Given the description of an element on the screen output the (x, y) to click on. 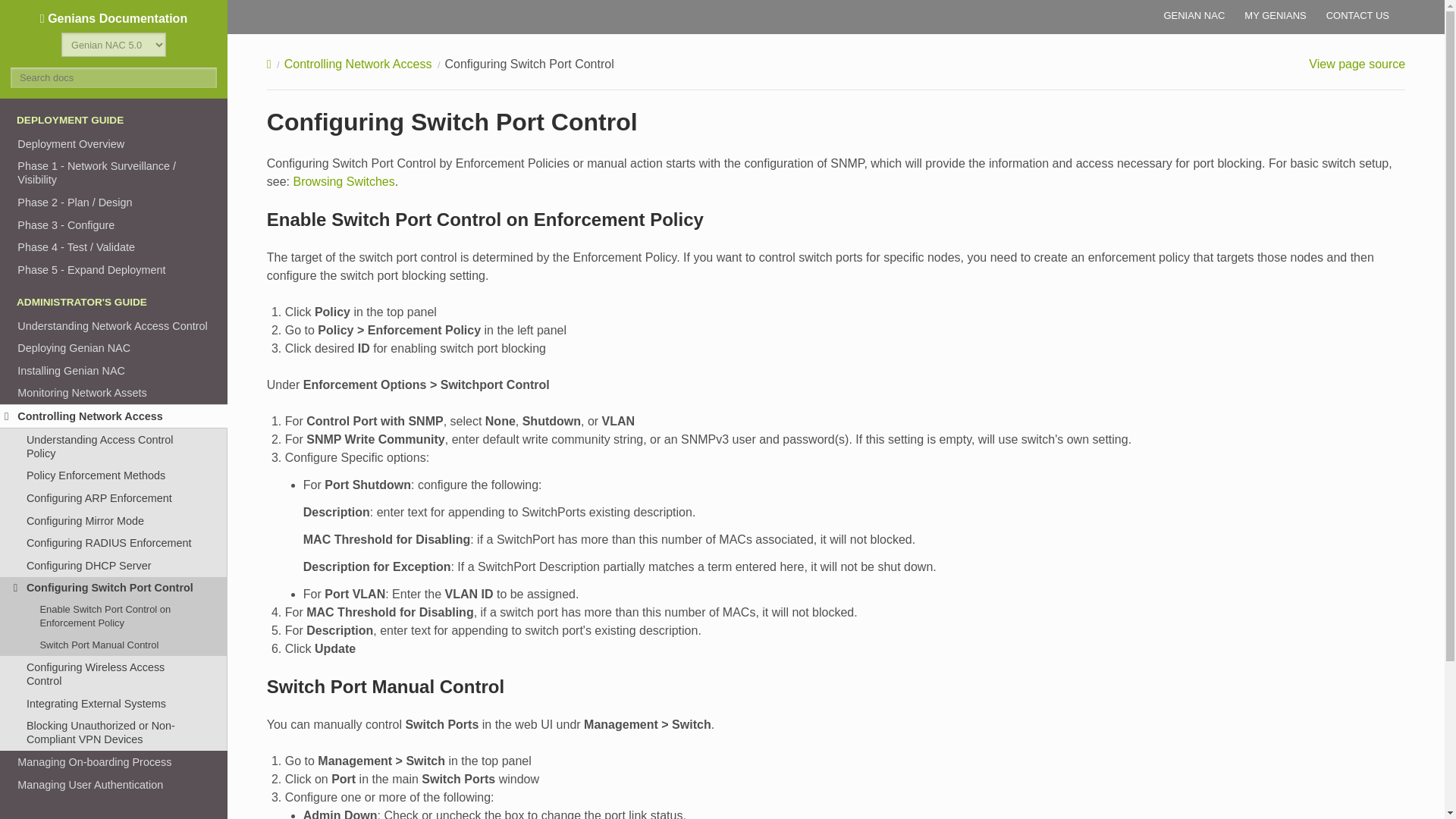
Enable Switch Port Control on Enforcement Policy (113, 615)
Managing User Authentication (113, 784)
GENIAN NAC (1193, 15)
MY GENIANS (1275, 15)
Phase 5 - Expand Deployment (113, 269)
Understanding Network Access Control (113, 325)
Configuring ARP Enforcement (113, 497)
Managing On-boarding Process (113, 762)
Deploying Genian NAC (113, 347)
Monitoring Network Assets (113, 393)
Configuring DHCP Server (113, 565)
Understanding Access Control Policy (113, 446)
Switch Port Manual Control (113, 645)
Installing Genian NAC (113, 370)
Configuring RADIUS Enforcement (113, 542)
